Given the description of an element on the screen output the (x, y) to click on. 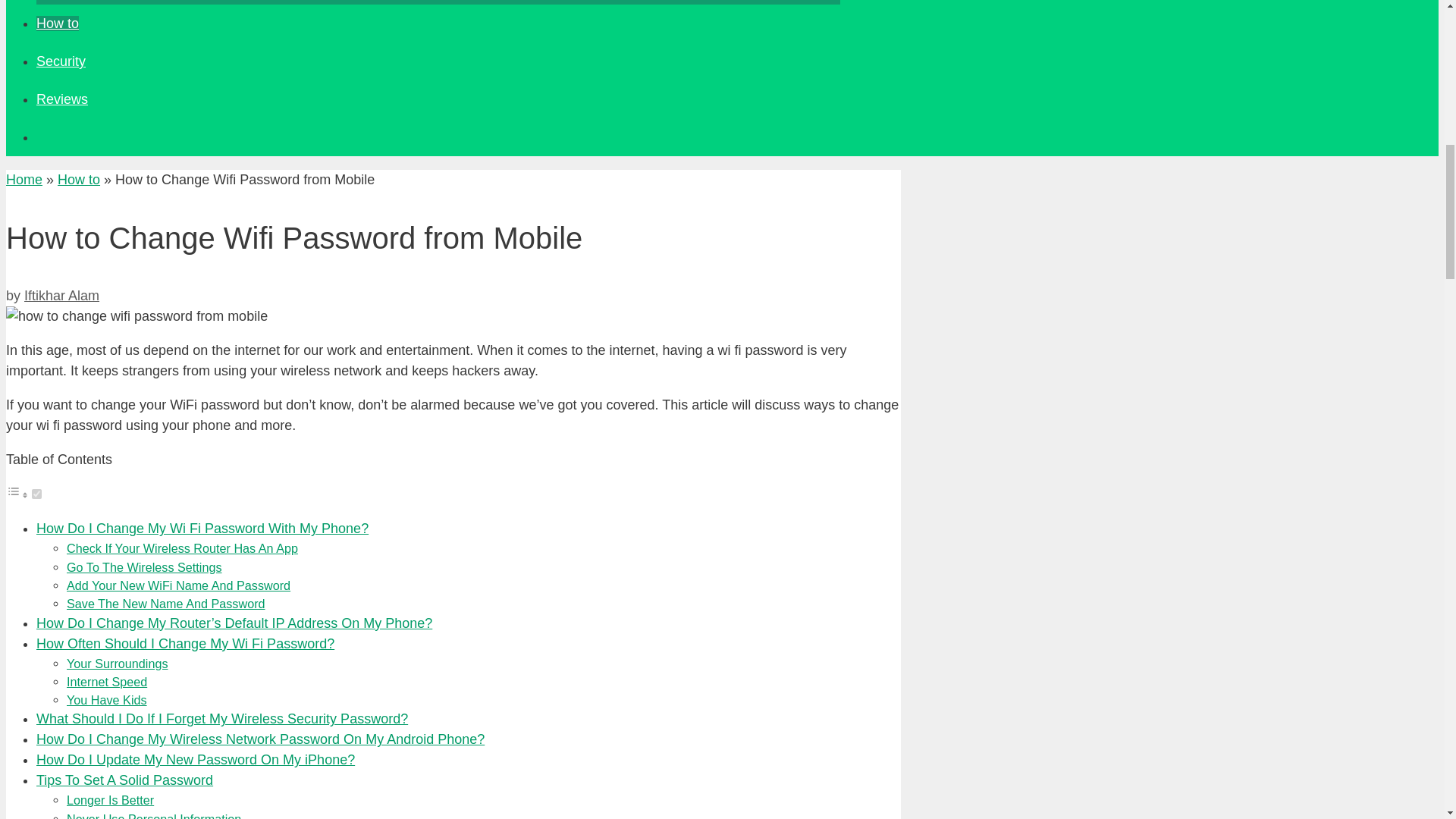
Check If Your Wireless Router Has An App (182, 548)
Tips To Set A Solid Password (124, 780)
How to (57, 23)
View all posts by Iftikhar Alam (61, 295)
How Do I Update My New Password On My iPhone? (195, 759)
Go To The Wireless Settings (144, 567)
How Often Should I Change My Wi Fi Password? (185, 643)
How Do I Change My Wi Fi Password With My Phone? (202, 528)
Add Your New WiFi Name And Password (177, 585)
Save The New Name And Password (165, 603)
You Have Kids (106, 699)
What Should I Do If I Forget My Wireless Security Password? (221, 718)
How to (79, 179)
Never Use Personal Information (153, 815)
Home (23, 179)
